Given the description of an element on the screen output the (x, y) to click on. 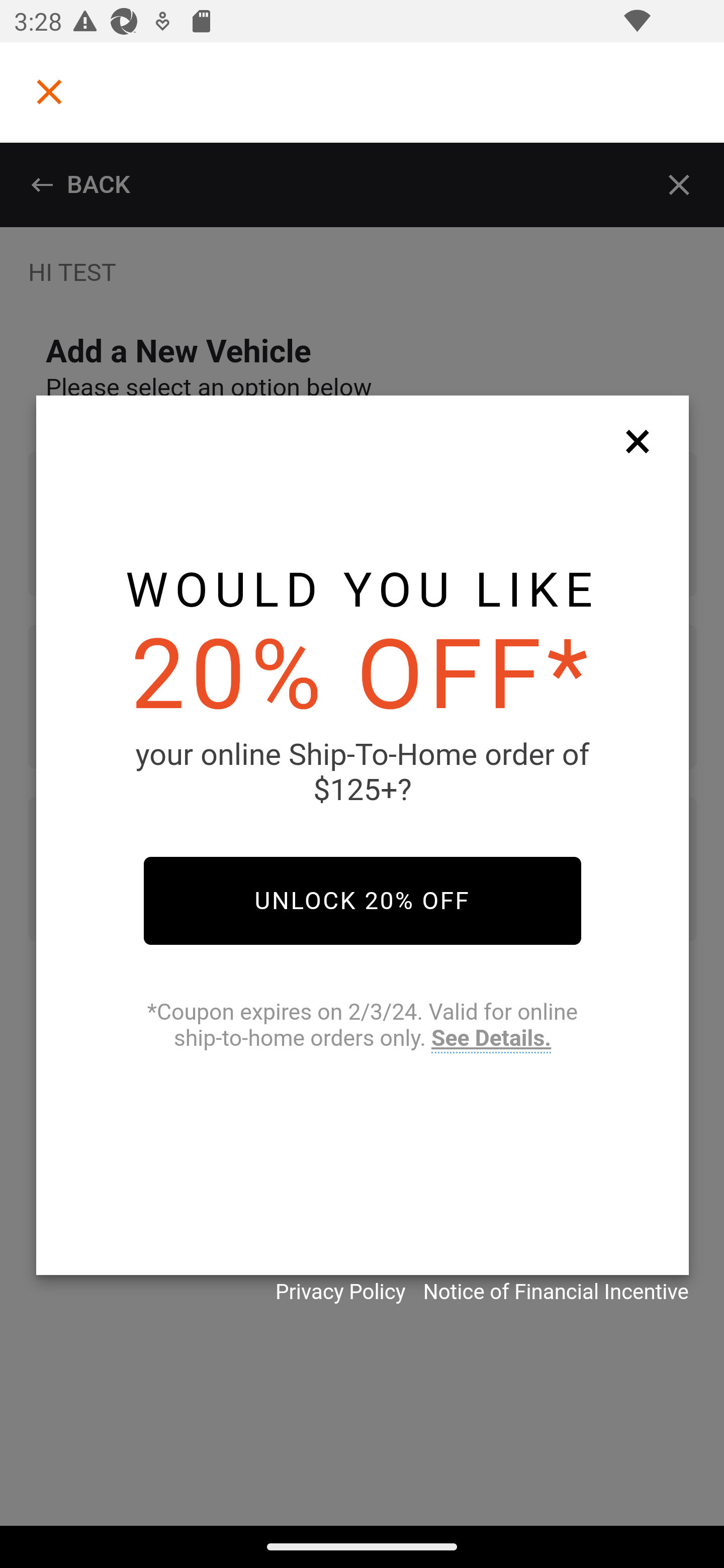
 (49, 91)
close jebbit questionnaire (641, 440)
UNLOCK 20% OFF  (362, 900)
See Details. (491, 1038)
Privacy Policy (340, 1291)
Notice of Financial Incentive (555, 1291)
